Given the description of an element on the screen output the (x, y) to click on. 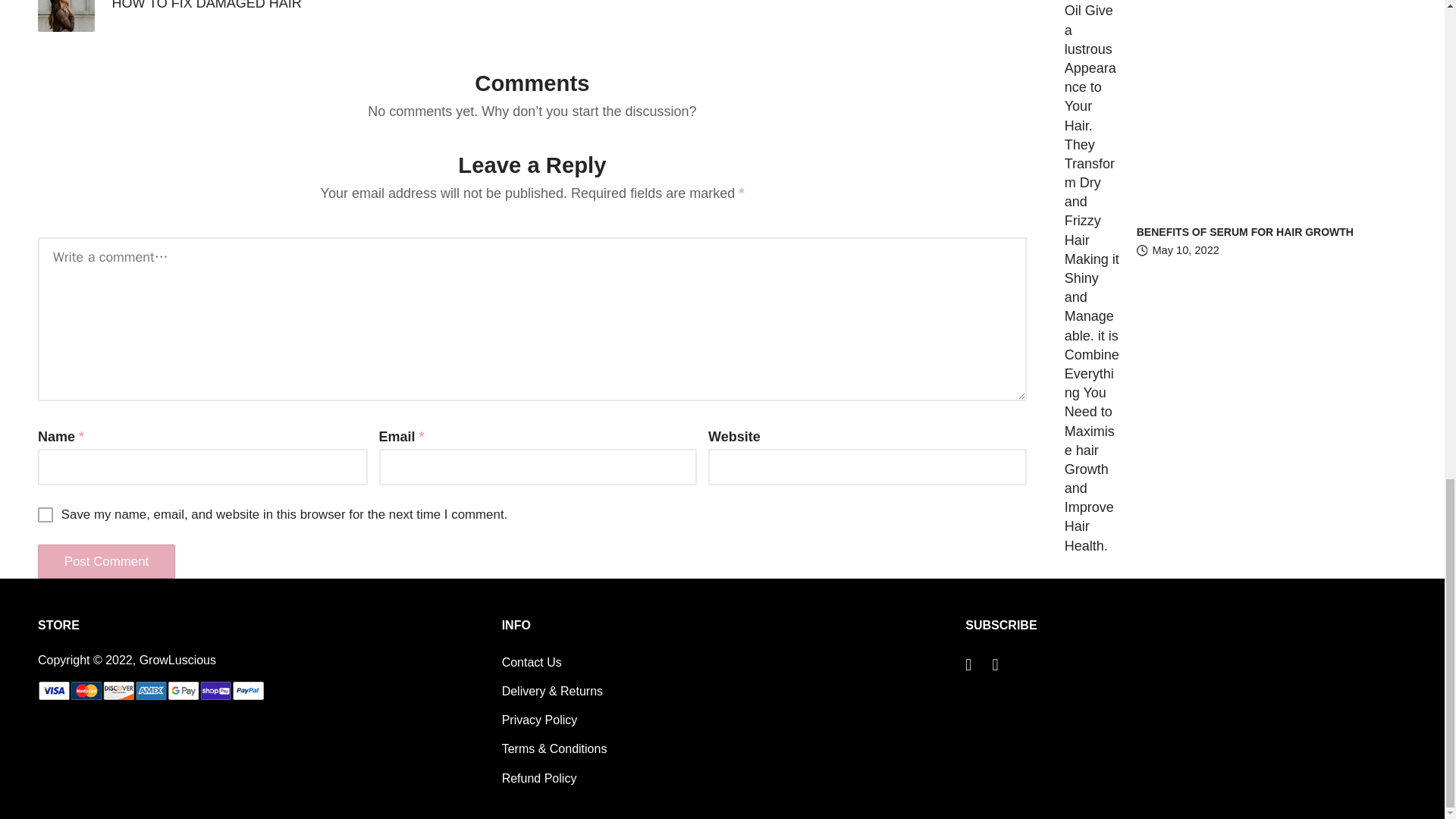
Post Comment (105, 561)
yes (44, 514)
Refund Policy (539, 778)
Post Comment (105, 561)
HOW TO FIX DAMAGED HAIR (284, 15)
Privacy Policy (540, 719)
Contact Us (532, 662)
